Given the description of an element on the screen output the (x, y) to click on. 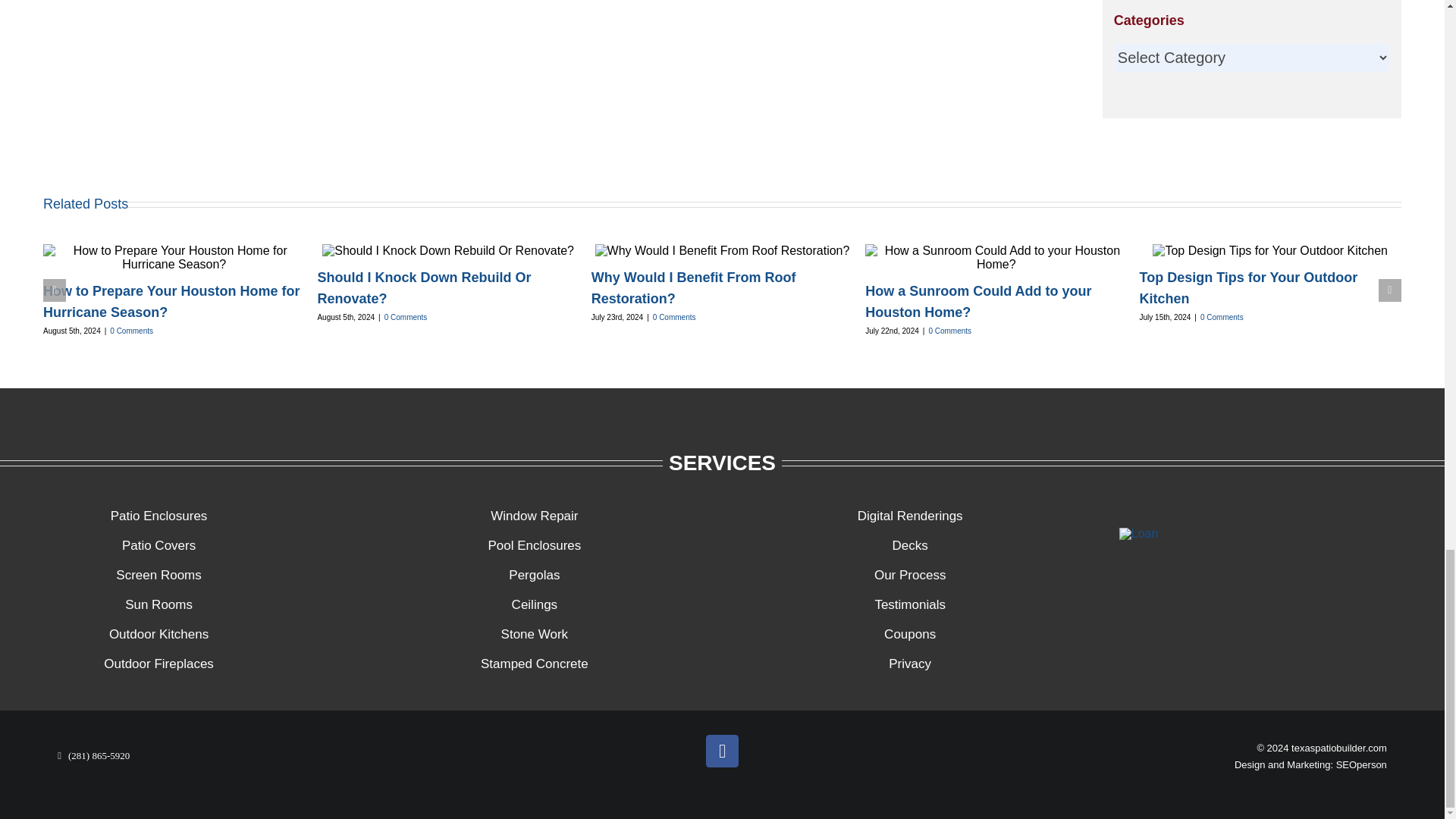
Should I Knock Down Rebuild Or Renovate? (424, 288)
Facebook (722, 750)
How a Sunroom Could Add to your Houston Home? (977, 301)
Top Design Tips for Your Outdoor Kitchen (1249, 288)
How to Prepare Your Houston Home for Hurricane Season? (171, 301)
How to Prepare Your Houston Home for Hurricane Season? (171, 301)
Why Would I Benefit From Roof Restoration? (693, 288)
